Given the description of an element on the screen output the (x, y) to click on. 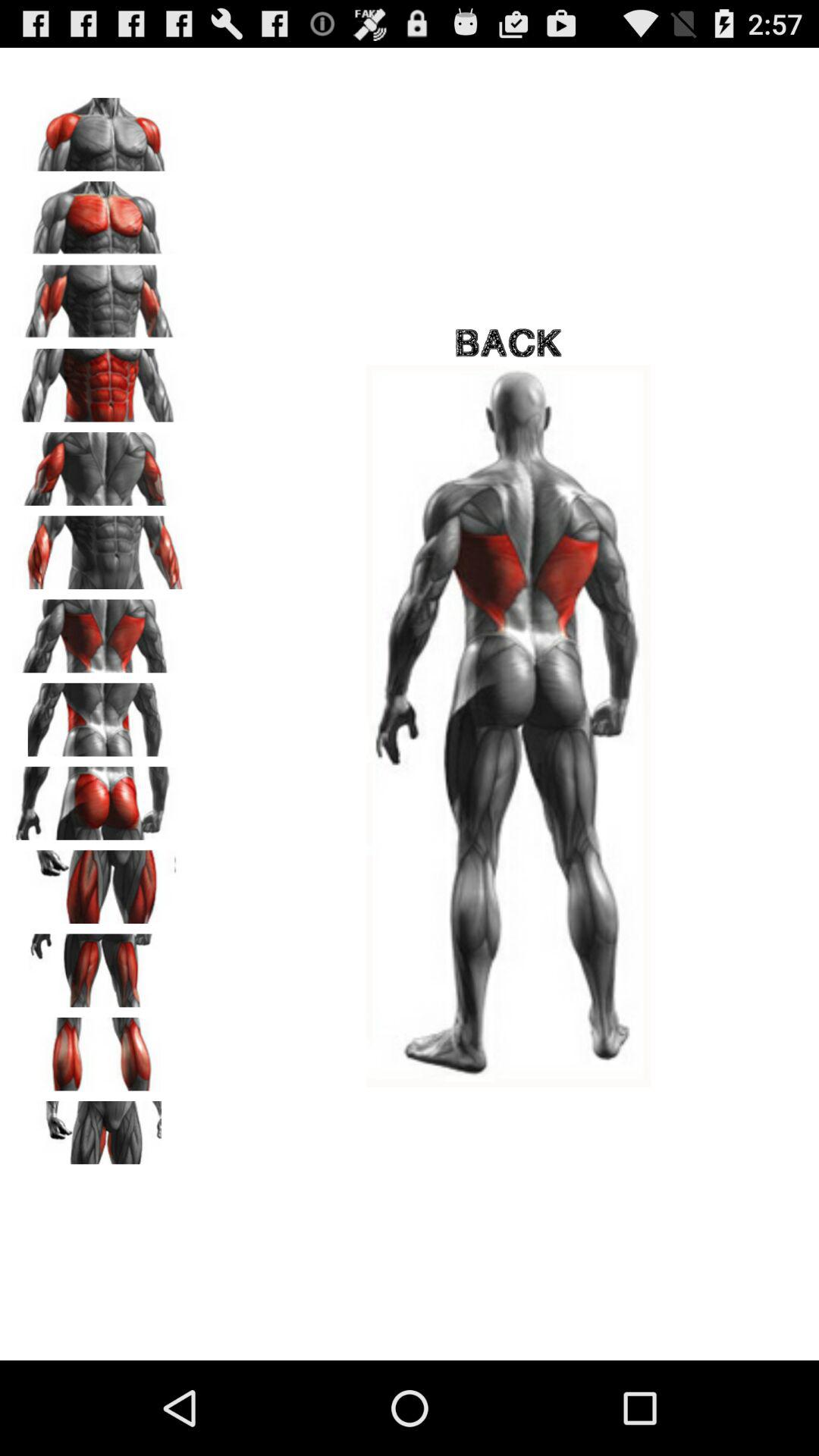
select thighs (99, 1048)
